Given the description of an element on the screen output the (x, y) to click on. 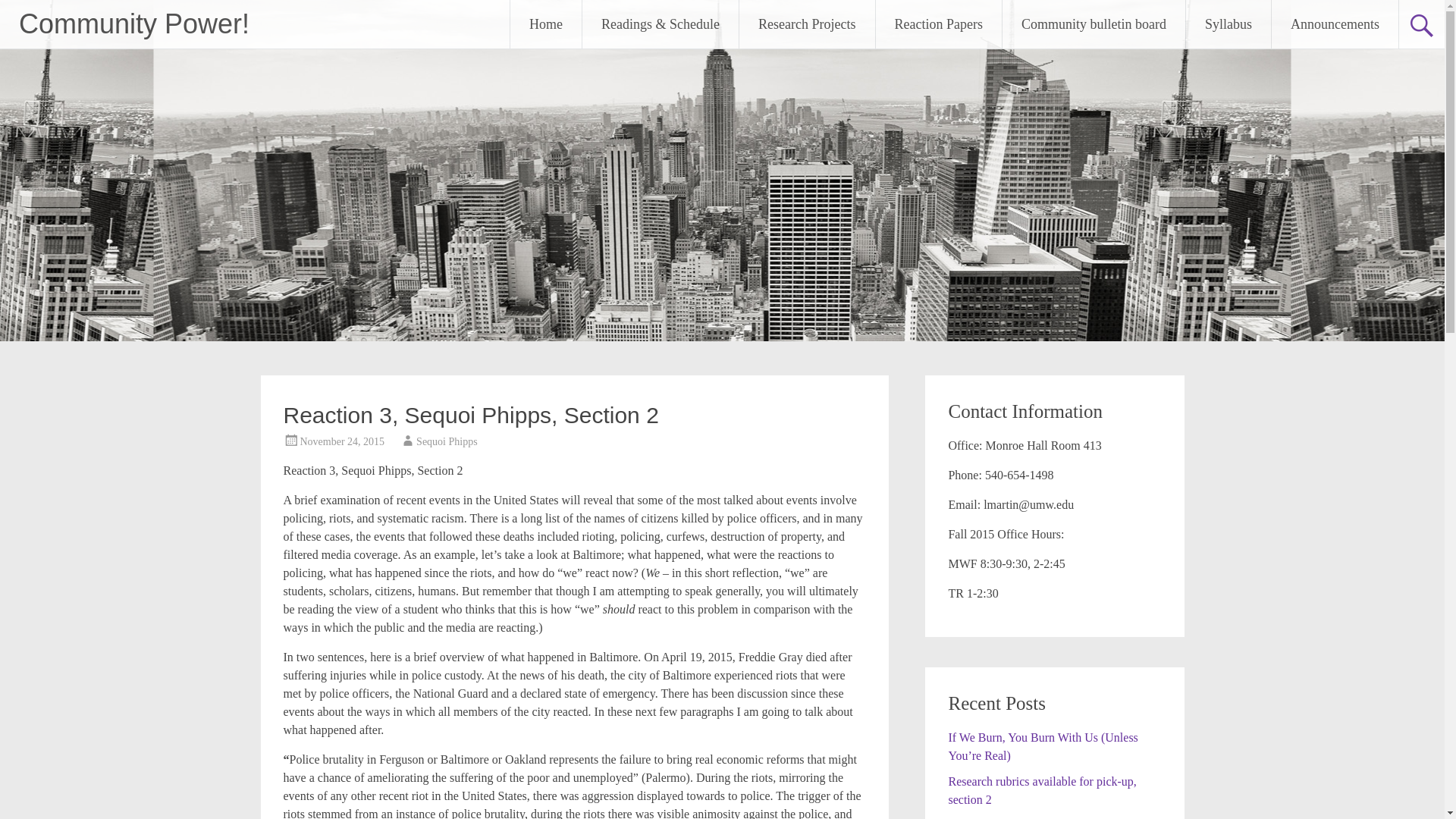
Reaction Papers (938, 24)
Community bulletin board (1094, 24)
Syllabus (1228, 24)
Community Power! (133, 23)
Announcements (1334, 24)
Community Power! (133, 23)
November 24, 2015 (342, 441)
Sequoi Phipps (446, 441)
Research Projects (807, 24)
Research rubrics available for pick-up, section 2 (1041, 789)
Home (545, 24)
